Given the description of an element on the screen output the (x, y) to click on. 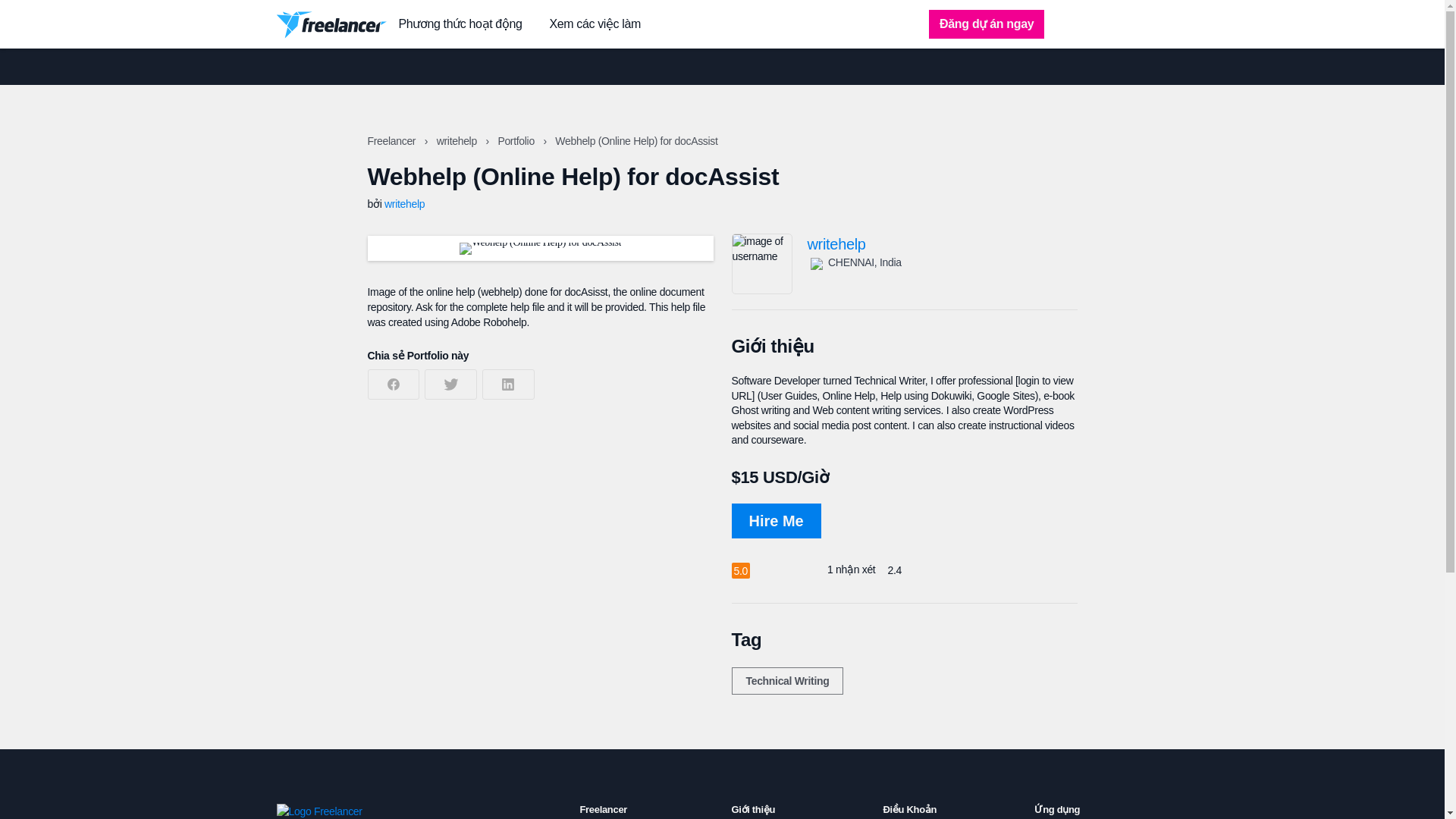
Freelancer (391, 141)
Hire Me (775, 520)
Portfolio (517, 141)
writehelp (941, 243)
writehelp (404, 203)
writehelp (458, 141)
Technical Writing (786, 680)
Flag of India (815, 264)
